Given the description of an element on the screen output the (x, y) to click on. 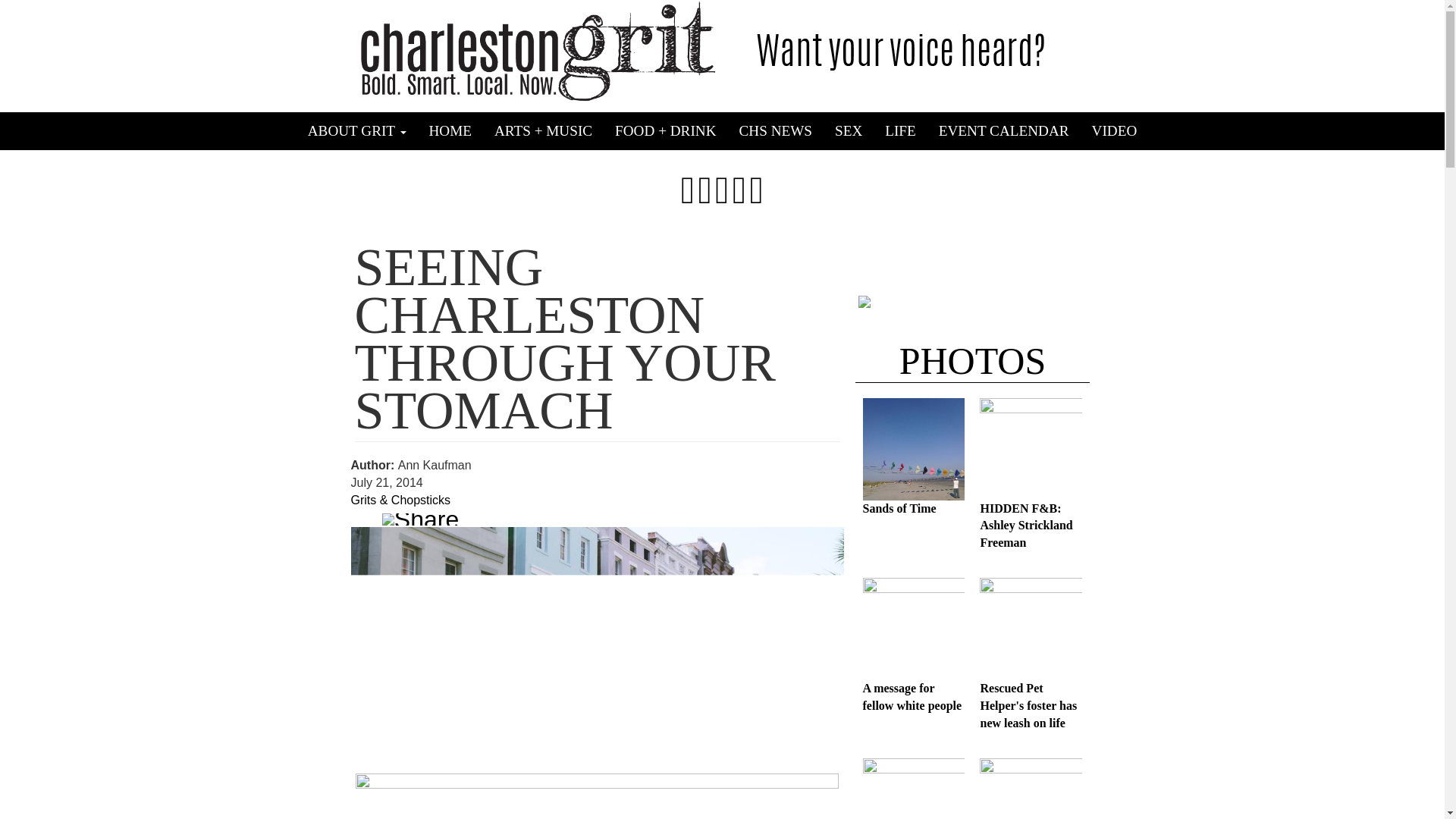
CHS NEWS (776, 130)
LIFE (900, 130)
VIDEO (1114, 130)
EVENT CALENDAR (1003, 130)
ABOUT GRIT (357, 130)
HOME (449, 130)
SEX (848, 130)
